Given the description of an element on the screen output the (x, y) to click on. 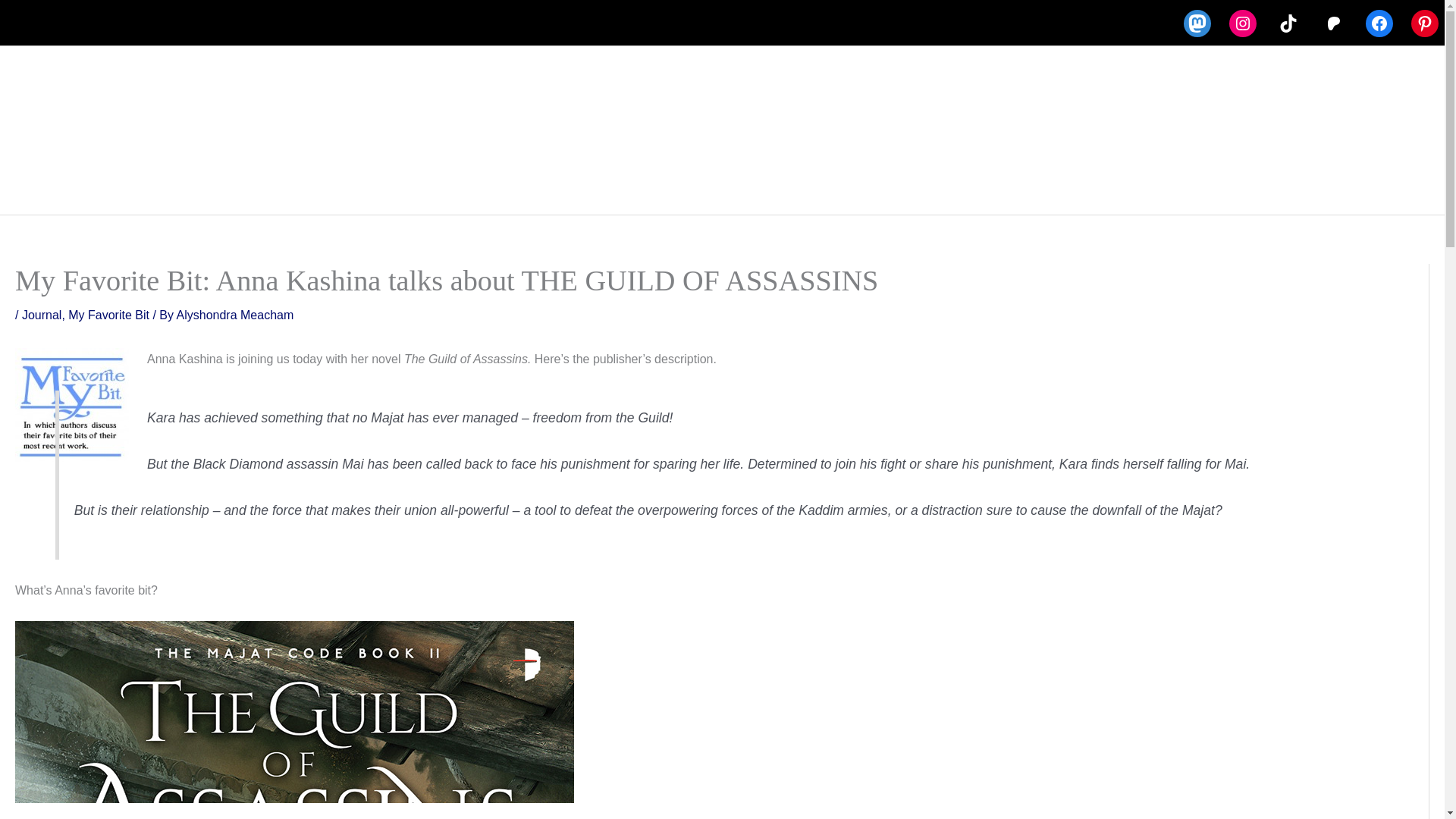
Contact (853, 187)
Patreon (926, 187)
About (486, 187)
Books (562, 187)
Mastodon (1197, 22)
Patreon (1334, 22)
TikTok (1288, 22)
Alyshondra Meacham (235, 314)
Store (631, 187)
Pinterest (1424, 22)
Journal (41, 314)
Facebook (1379, 22)
View all posts by Alyshondra Meacham (235, 314)
My Favorite Bit (108, 314)
Instagram (1242, 22)
